Given the description of an element on the screen output the (x, y) to click on. 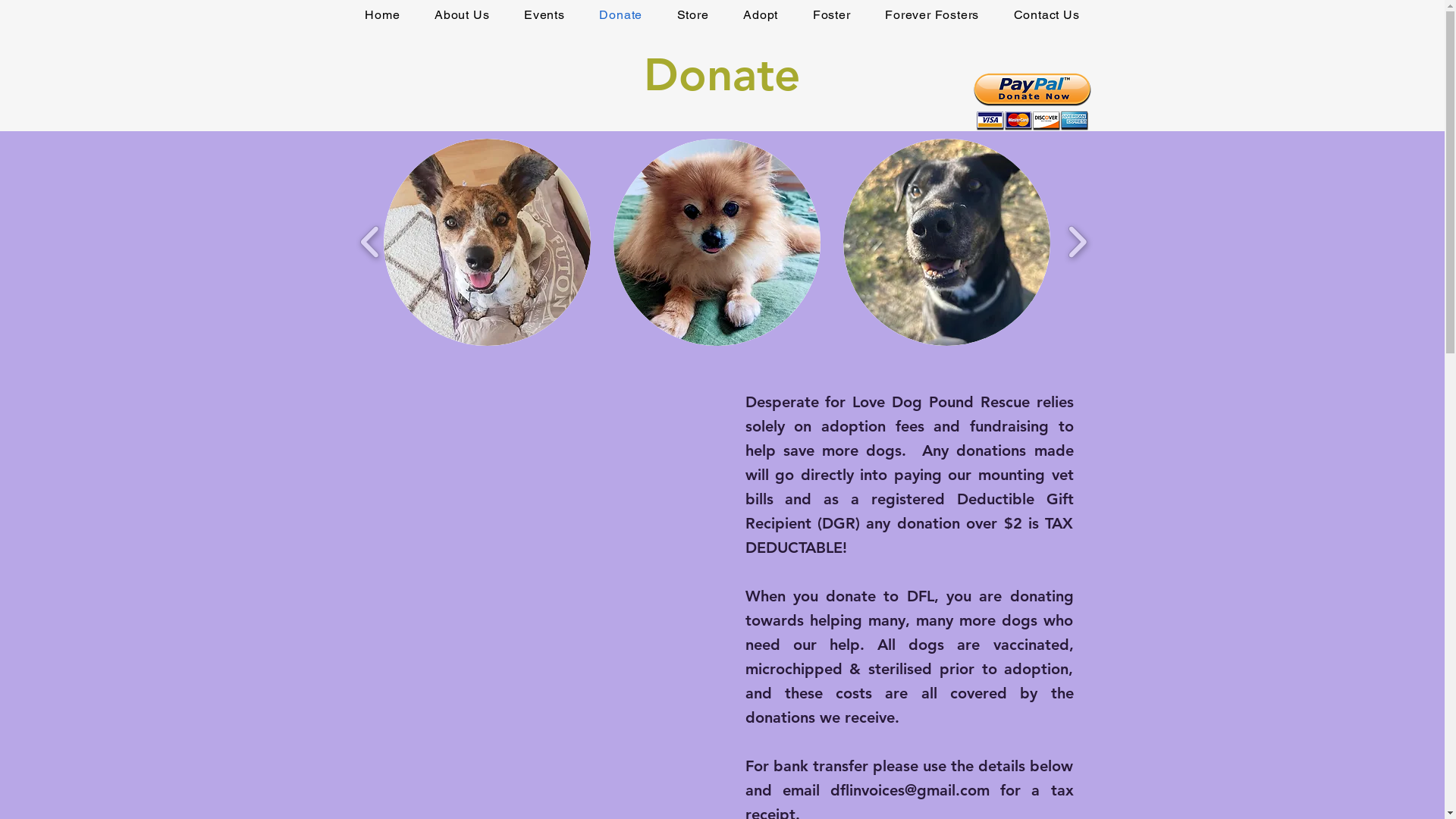
About Us Element type: text (461, 14)
Events Element type: text (543, 14)
Store Element type: text (692, 14)
dflinvoices@gmail.com Element type: text (909, 790)
Adopt Element type: text (760, 14)
Donate Element type: text (620, 14)
Home Element type: text (382, 14)
Contact Us Element type: text (1046, 14)
Forever Fosters Element type: text (931, 14)
Foster Element type: text (831, 14)
